Given the description of an element on the screen output the (x, y) to click on. 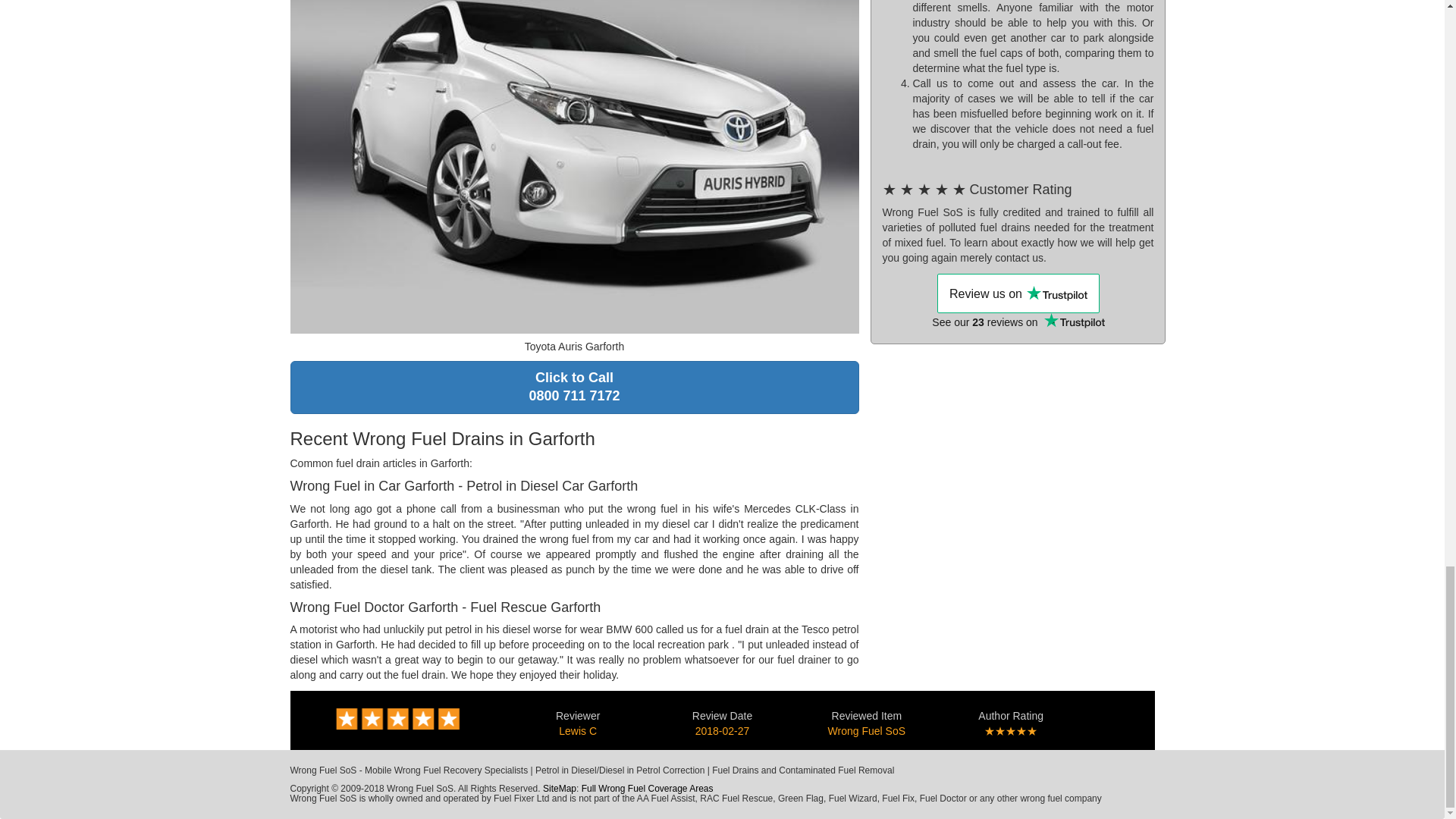
Full Wrong Fuel Coverage Areas (646, 787)
SiteMap (559, 787)
Customer reviews powered by Trustpilot (574, 387)
Customer reviews powered by Trustpilot (1018, 320)
Wrong Fuel SoS (1018, 292)
Reviews (866, 730)
